Given the description of an element on the screen output the (x, y) to click on. 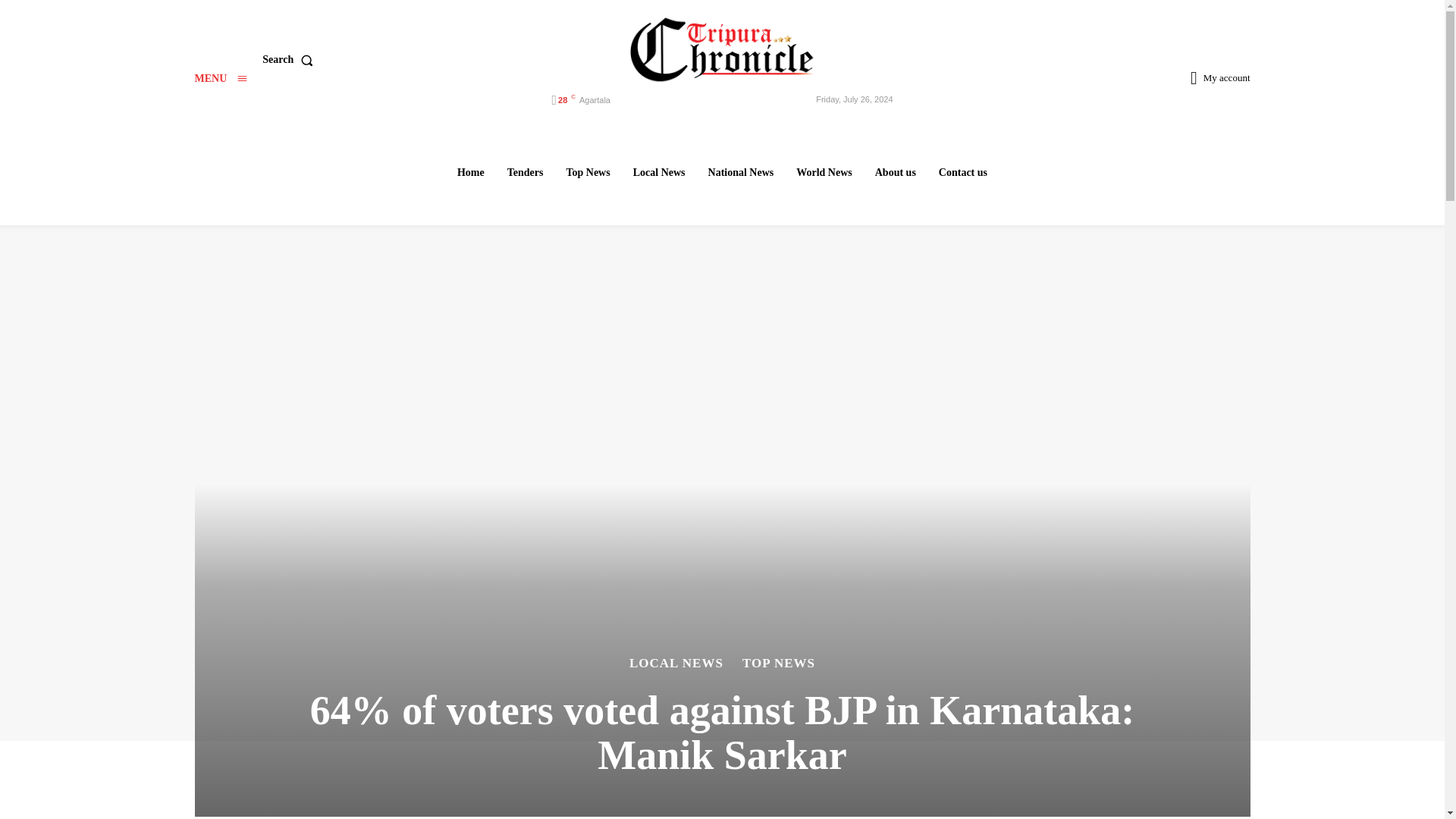
Top News (587, 172)
MENU (220, 78)
National News (740, 172)
Search (290, 60)
World News (824, 172)
Home (470, 172)
Local News (659, 172)
Menu (220, 78)
Tenders (525, 172)
